Given the description of an element on the screen output the (x, y) to click on. 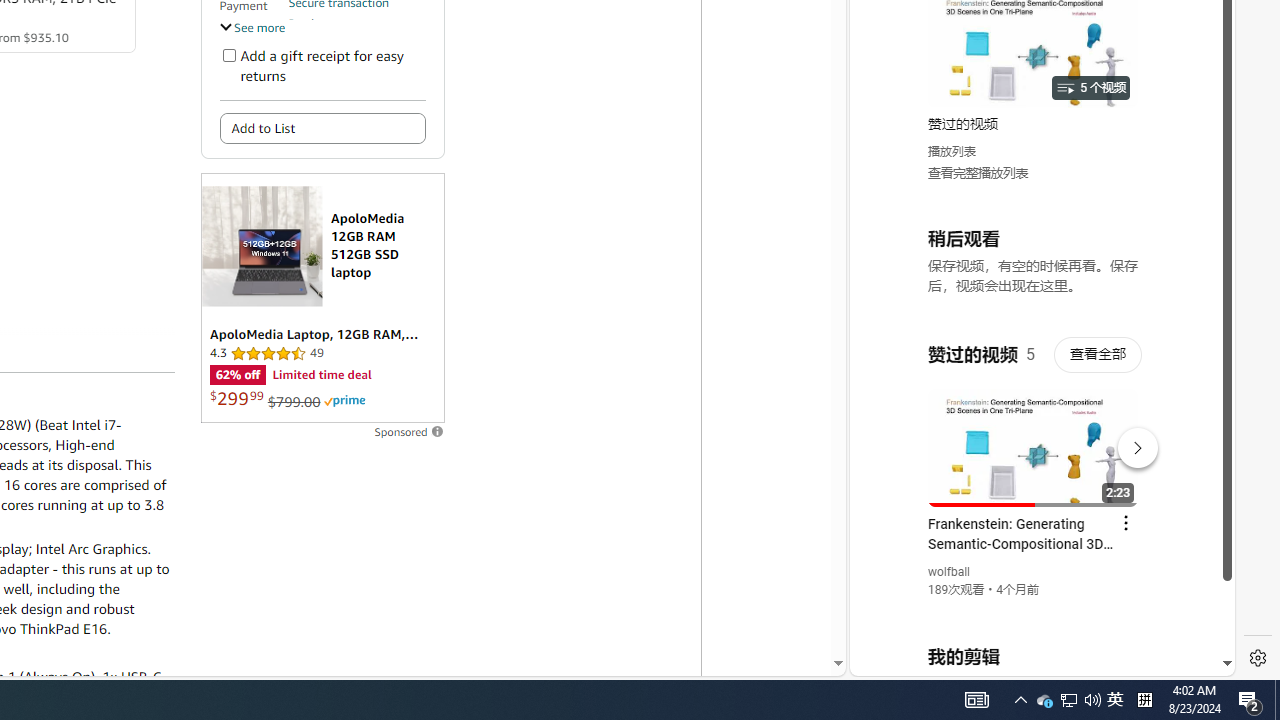
Class: dict_pnIcon rms_img (1028, 660)
See more (251, 26)
Prime (344, 400)
Add to List (322, 128)
Product support included (357, 31)
wolfball (949, 572)
Add a gift receipt for easy returns (228, 54)
Global web icon (888, 432)
Sponsored ad (322, 297)
